Given the description of an element on the screen output the (x, y) to click on. 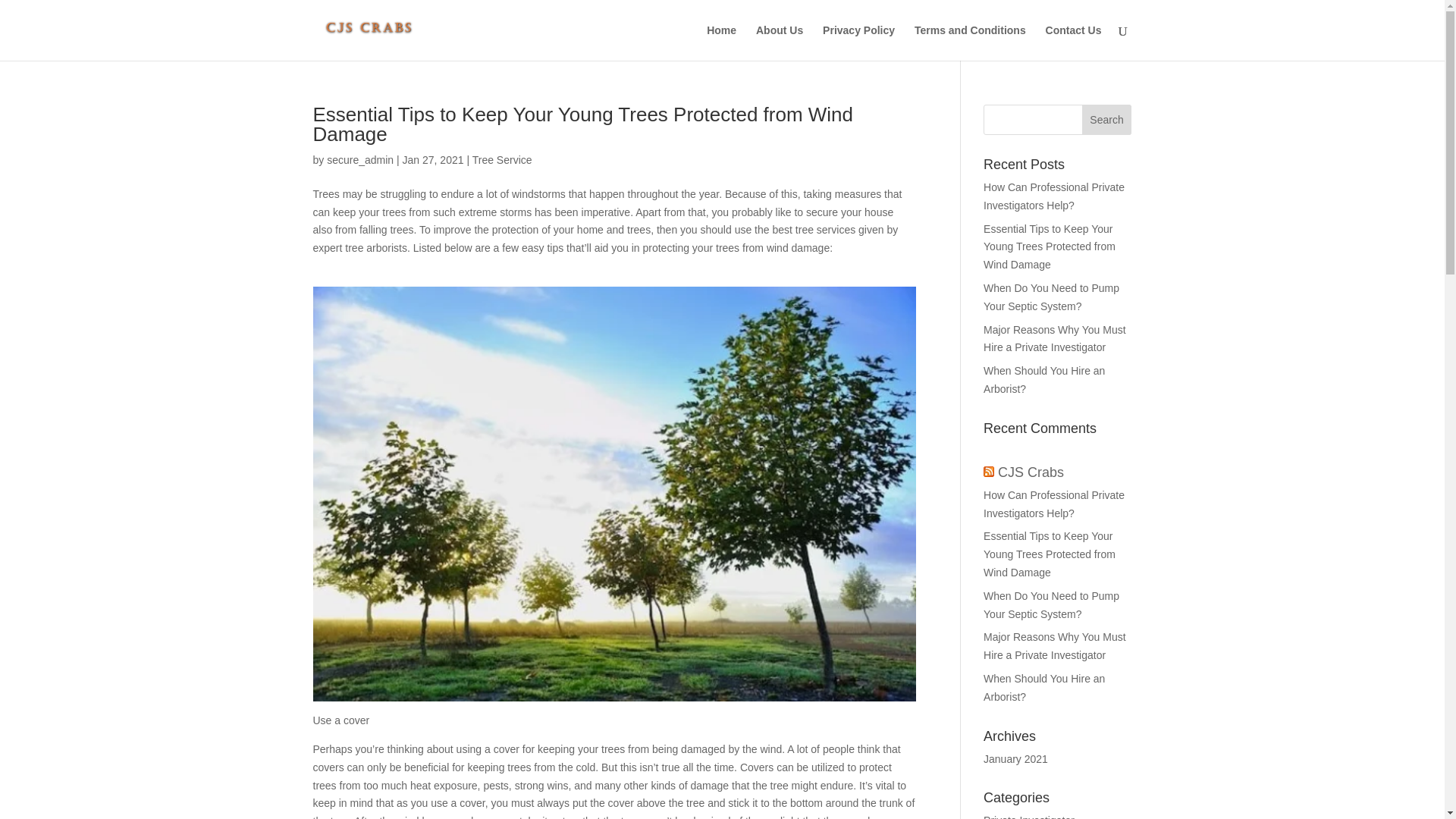
Major Reasons Why You Must Hire a Private Investigator  (1054, 338)
When Should You Hire an Arborist?  (1044, 379)
Private Investigator (1029, 816)
When Do You Need to Pump Your Septic System?  (1051, 296)
About Us (779, 42)
When Do You Need to Pump Your Septic System?  (1051, 604)
How Can Professional Private Investigators Help?  (1054, 503)
Major Reasons Why You Must Hire a Private Investigator  (1054, 645)
